Given the description of an element on the screen output the (x, y) to click on. 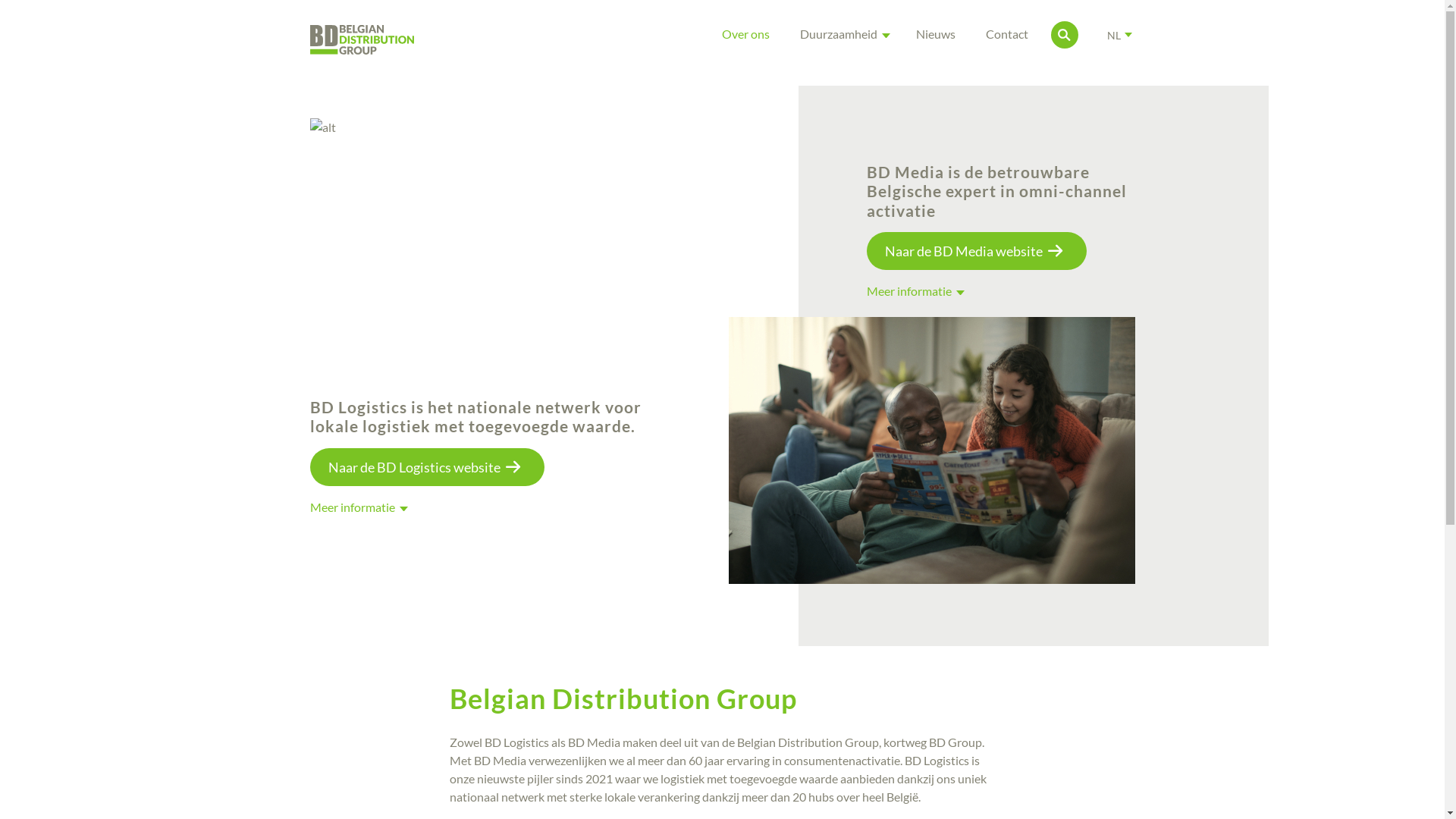
Contact Element type: text (1006, 34)
Naar de BD Media website Element type: text (976, 250)
Duurzaamheid Element type: text (841, 34)
Meer informatie Element type: text (355, 507)
Over ons Element type: text (745, 34)
Nieuws Element type: text (935, 34)
Meer informatie Element type: text (913, 291)
Naar de BD Logistics website Element type: text (426, 467)
Zoeken Element type: text (1013, 34)
Overslaan en naar de inhoud gaan Element type: text (0, 0)
